Given the description of an element on the screen output the (x, y) to click on. 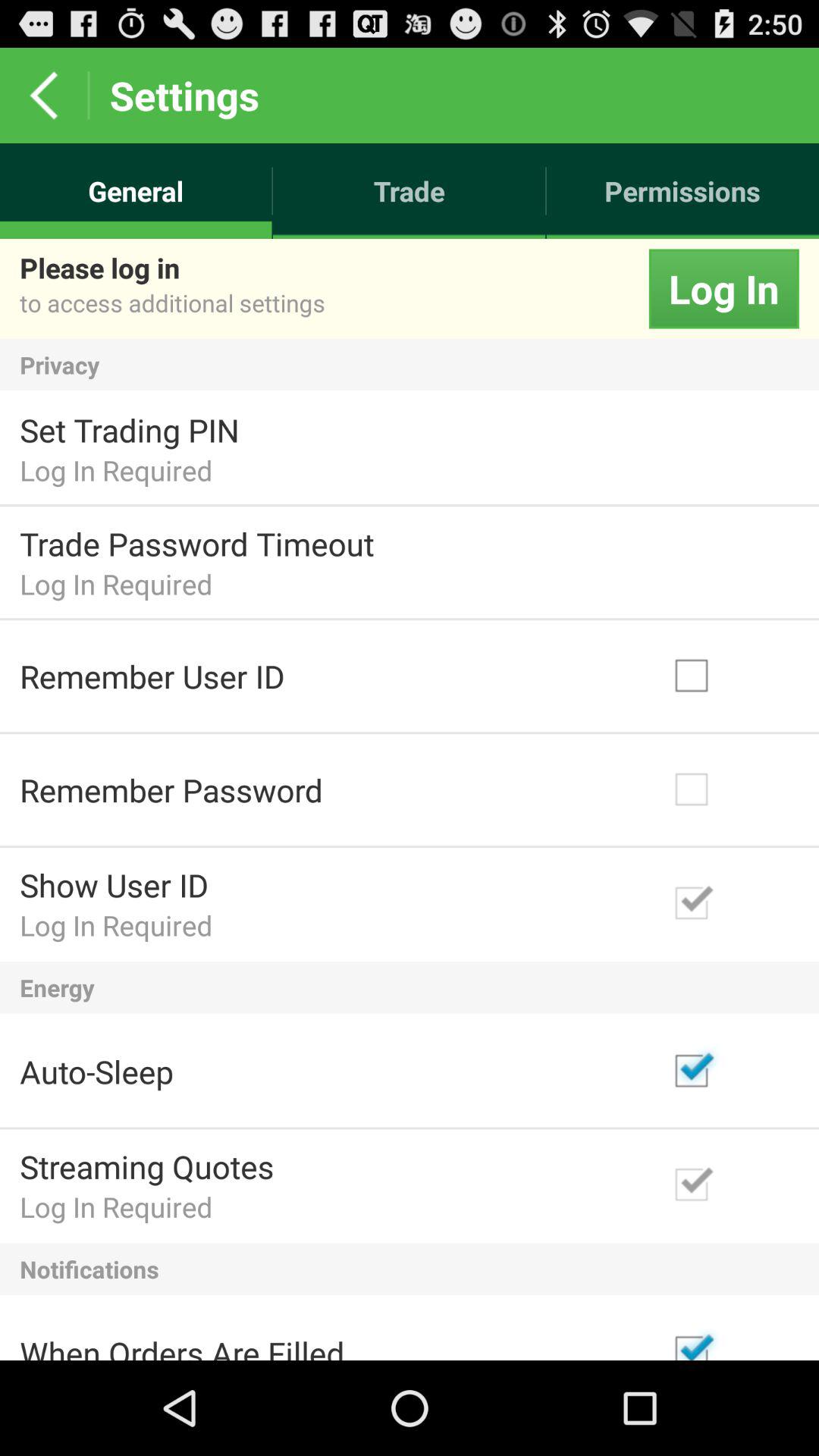
flip until set trading pin icon (129, 429)
